Given the description of an element on the screen output the (x, y) to click on. 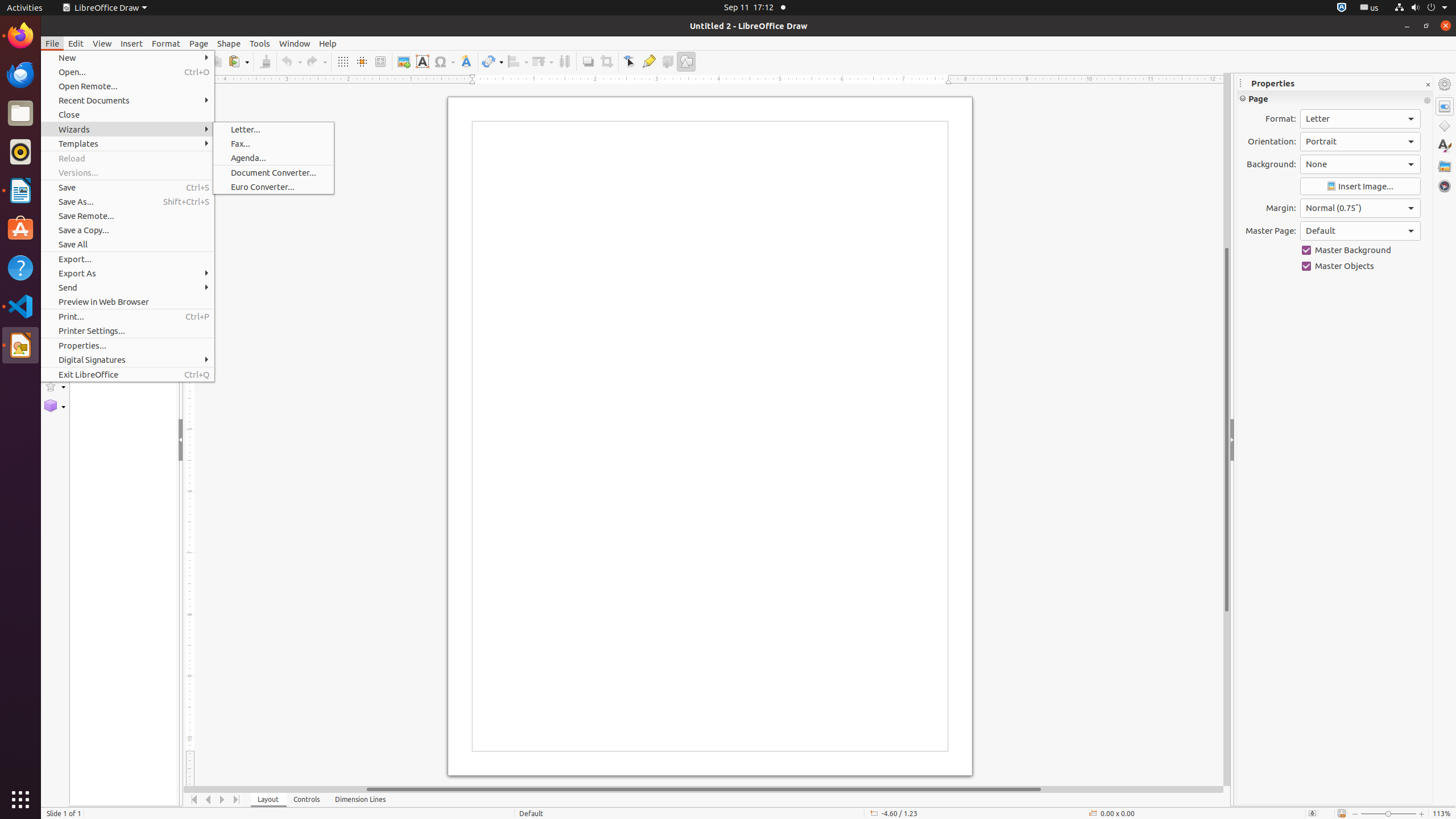
Horizontal scroll bar Element type: scroll-bar (703, 789)
Grid Element type: toggle-button (342, 61)
Redo Element type: push-button (315, 61)
Recent Documents Element type: menu (127, 100)
Help Element type: menu (327, 43)
